Given the description of an element on the screen output the (x, y) to click on. 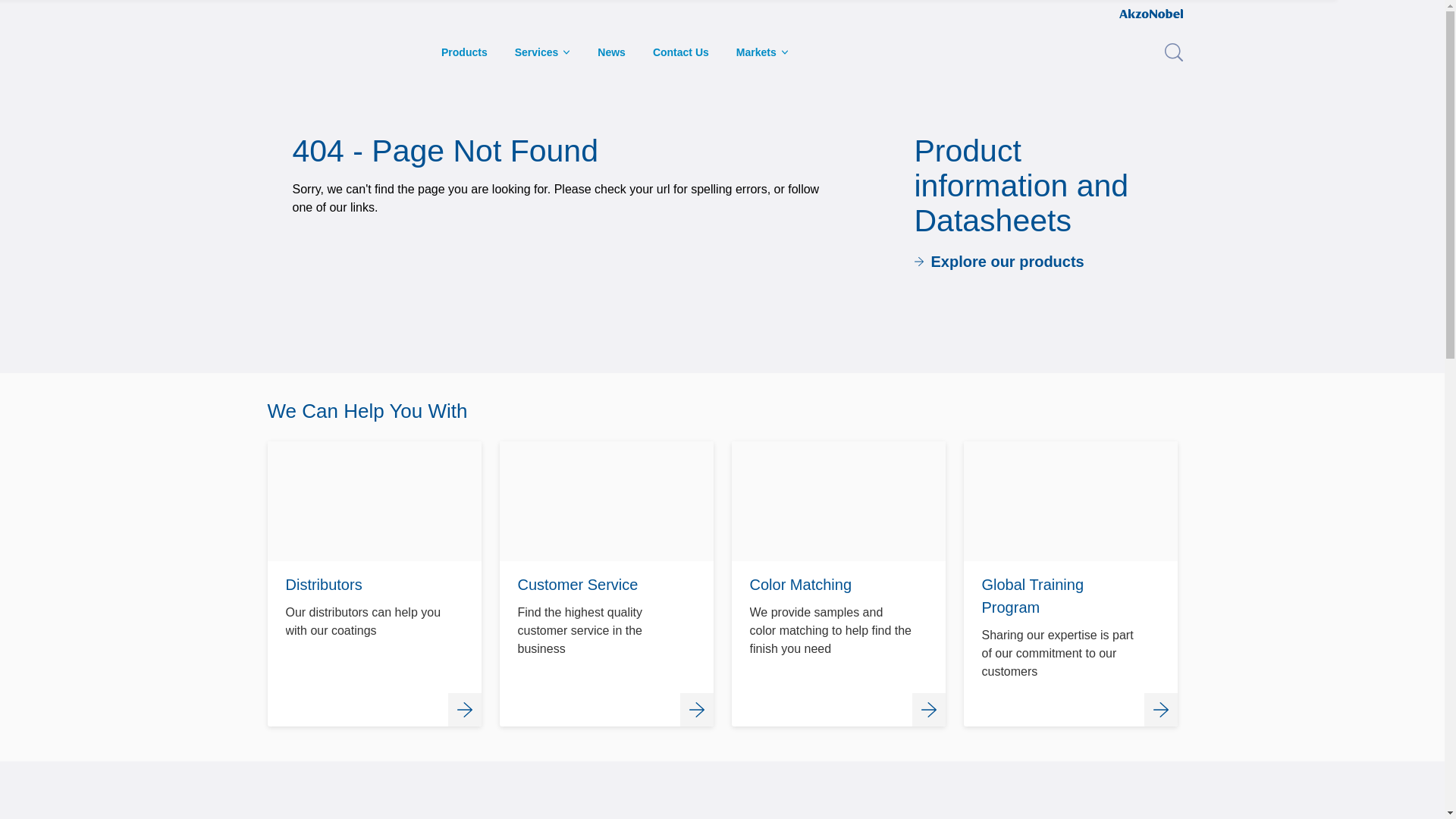
News (611, 51)
Contact Us (680, 51)
Explore our products (999, 267)
Markets (762, 51)
Products (464, 51)
Services (373, 583)
